Given the description of an element on the screen output the (x, y) to click on. 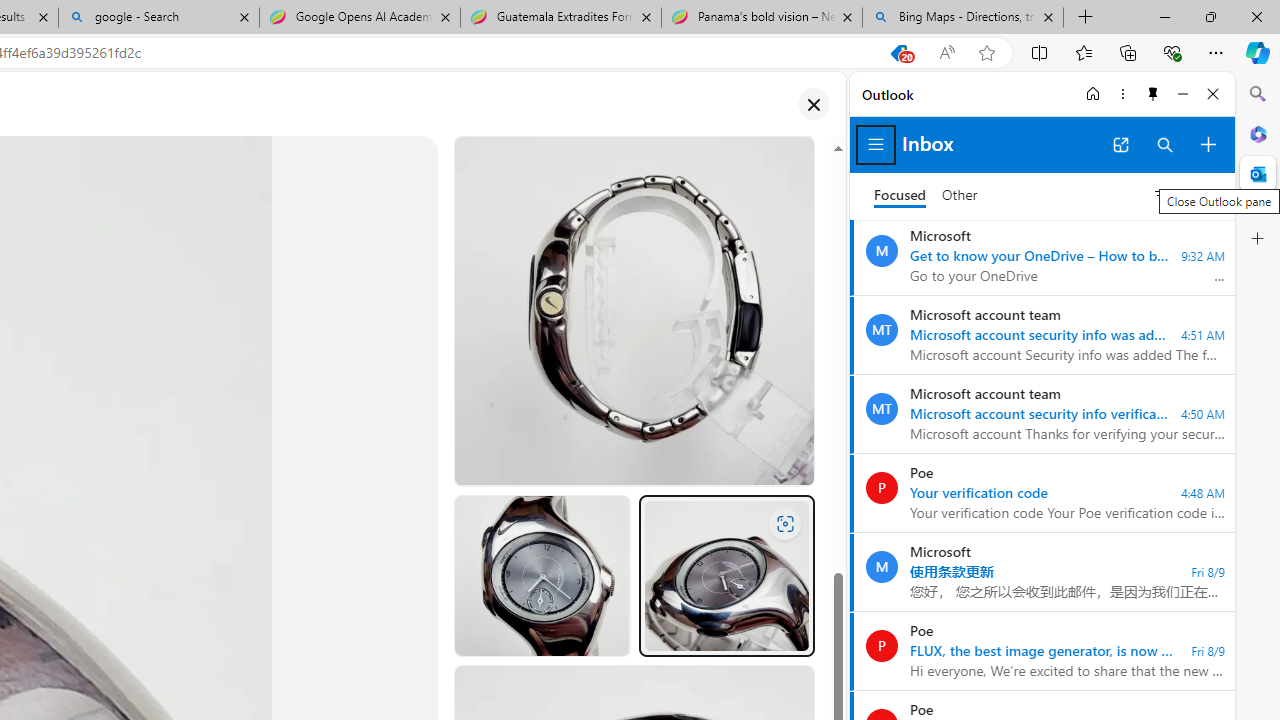
Folder navigation (876, 144)
Open in new tab (1120, 144)
Filter (1181, 195)
Compose new mail (1208, 144)
